Given the description of an element on the screen output the (x, y) to click on. 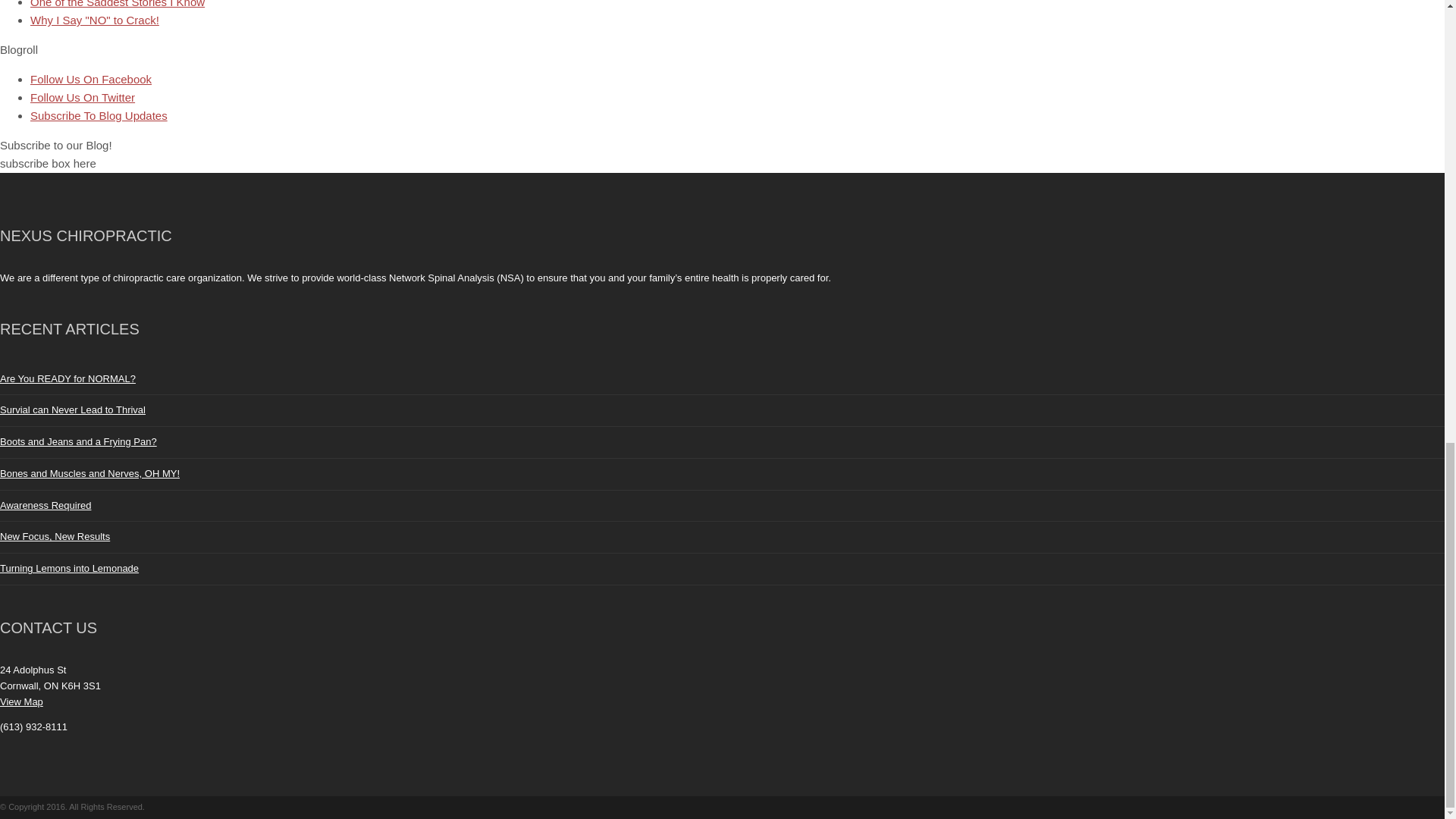
Follow Us On Twitter (82, 97)
Follow Us On Facebook (90, 78)
Subscribe To Blog Updates (98, 115)
Awareness Required (45, 505)
Why I Say "NO" to Crack! (94, 19)
Turning Lemons into Lemonade (69, 568)
Boots and Jeans and a Frying Pan? (78, 441)
Survial can Never Lead to Thrival (72, 409)
Bones and Muscles and Nerves, OH MY! (89, 473)
View Map (21, 701)
Are You READY for NORMAL? (67, 378)
New Focus, New Results (55, 536)
One of the Saddest Stories I Know (117, 4)
